Given the description of an element on the screen output the (x, y) to click on. 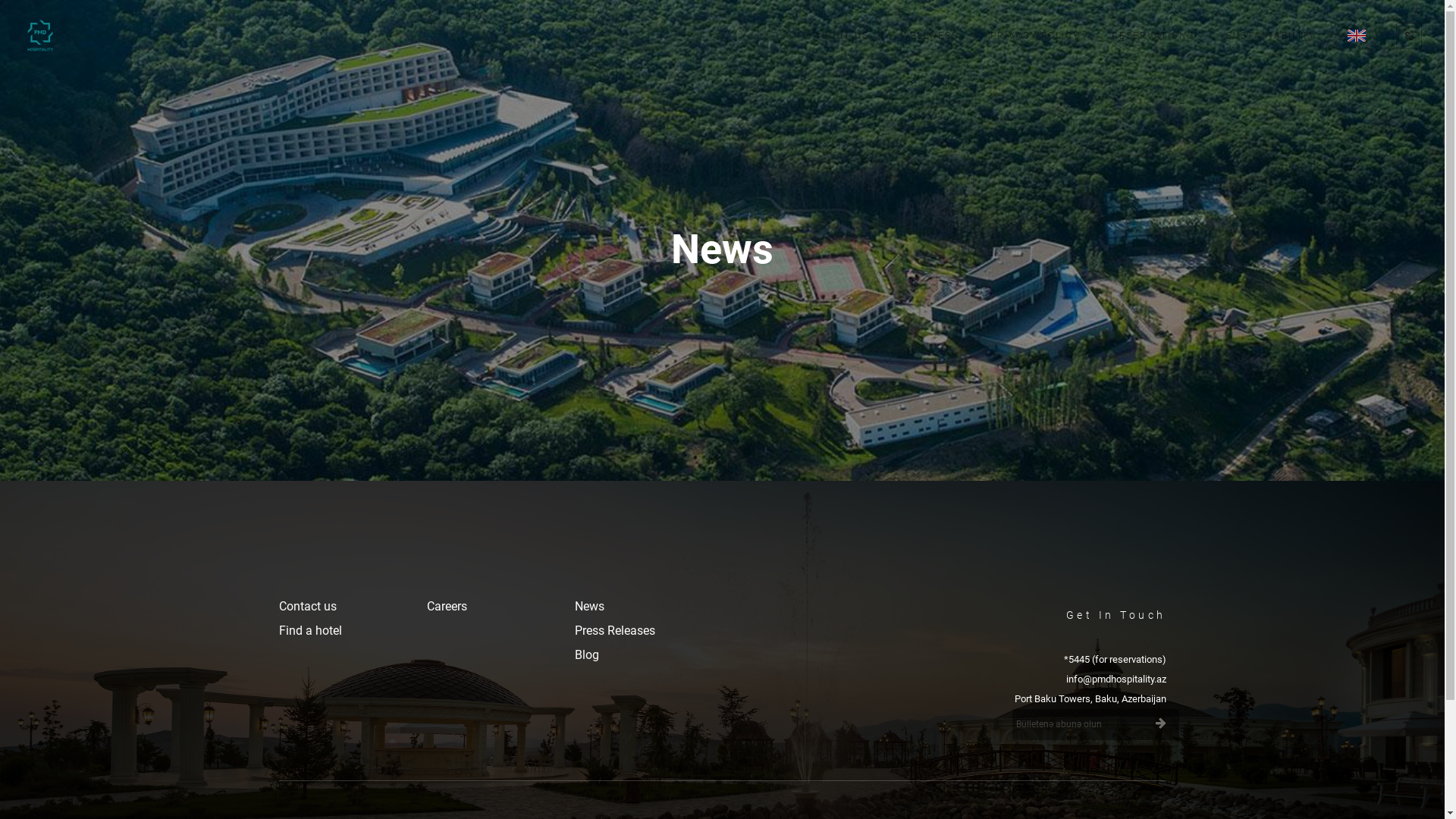
PRIVACY POLICY Element type: text (1035, 35)
Find a hotel Element type: text (310, 630)
info@pmdhospitality.az Element type: text (1116, 678)
Press Releases Element type: text (614, 630)
RESERVATIONS Element type: text (1152, 35)
News Element type: text (589, 606)
Blog Element type: text (586, 654)
WELLNESS Element type: text (929, 35)
ABOUT US Element type: text (841, 35)
SUSTAINABILITY Element type: text (1270, 35)
*5445 (for reservations) Element type: text (1114, 659)
Careers Element type: text (446, 606)
Contact us Element type: text (307, 606)
